Given the description of an element on the screen output the (x, y) to click on. 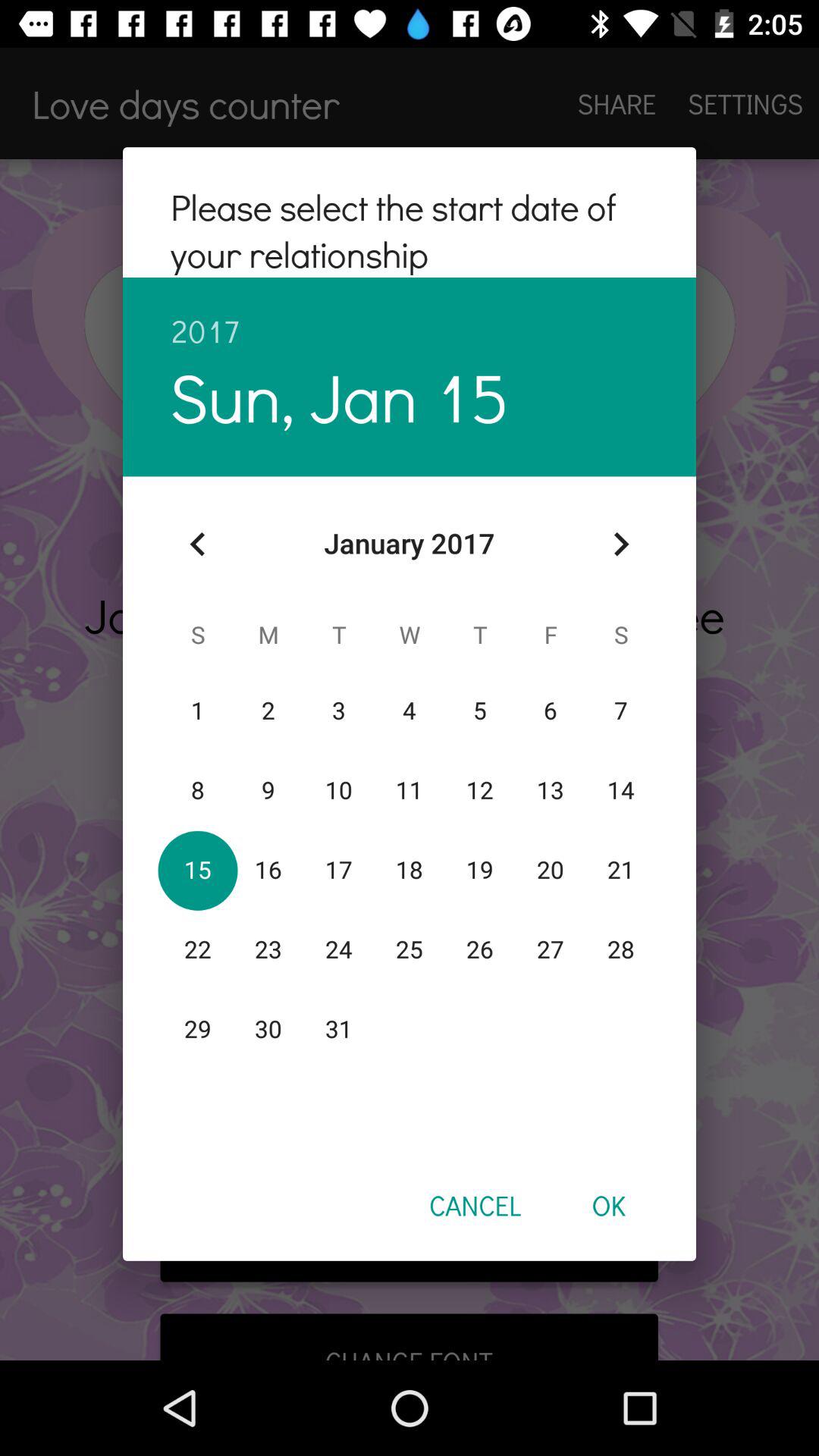
launch the cancel at the bottom (474, 1204)
